Given the description of an element on the screen output the (x, y) to click on. 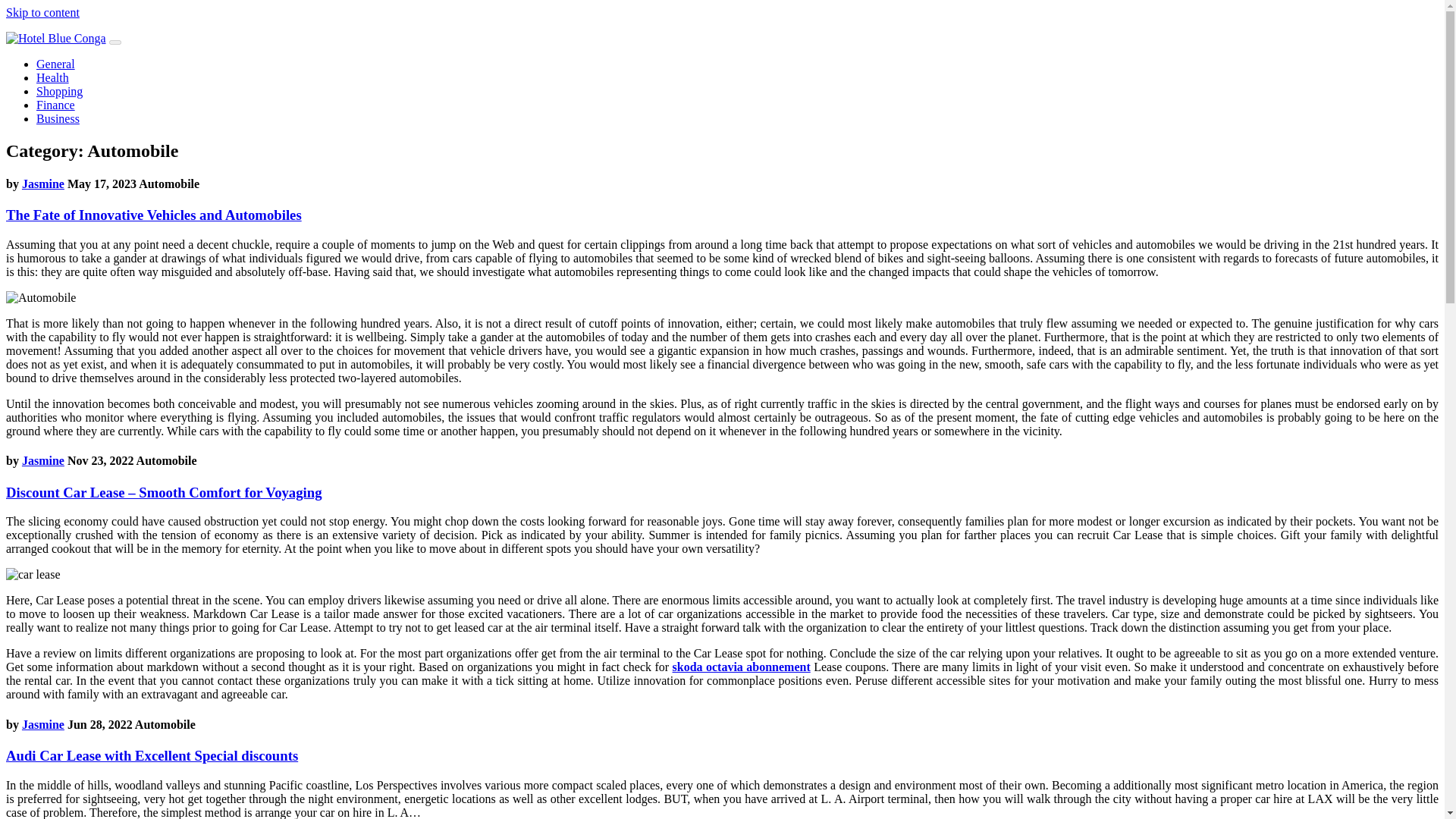
Jasmine (42, 460)
Jasmine (42, 183)
Audi Car Lease with Excellent Special discounts (151, 755)
Skip to content (42, 11)
Business (58, 118)
Health (52, 77)
Jasmine (42, 724)
skoda octavia abonnement (741, 666)
Shopping (59, 91)
Finance (55, 104)
